Given the description of an element on the screen output the (x, y) to click on. 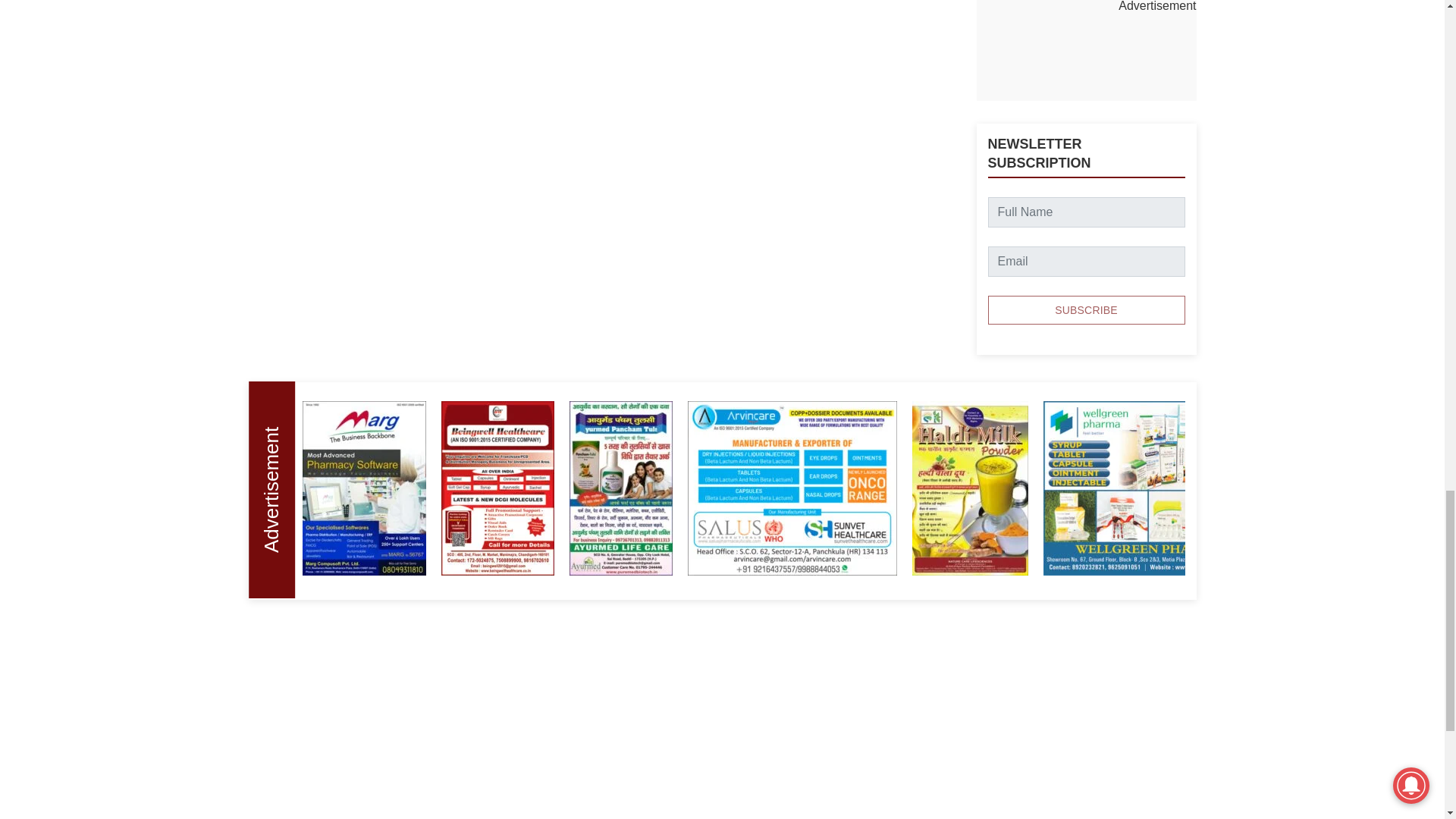
Subscribe (1086, 309)
